Given the description of an element on the screen output the (x, y) to click on. 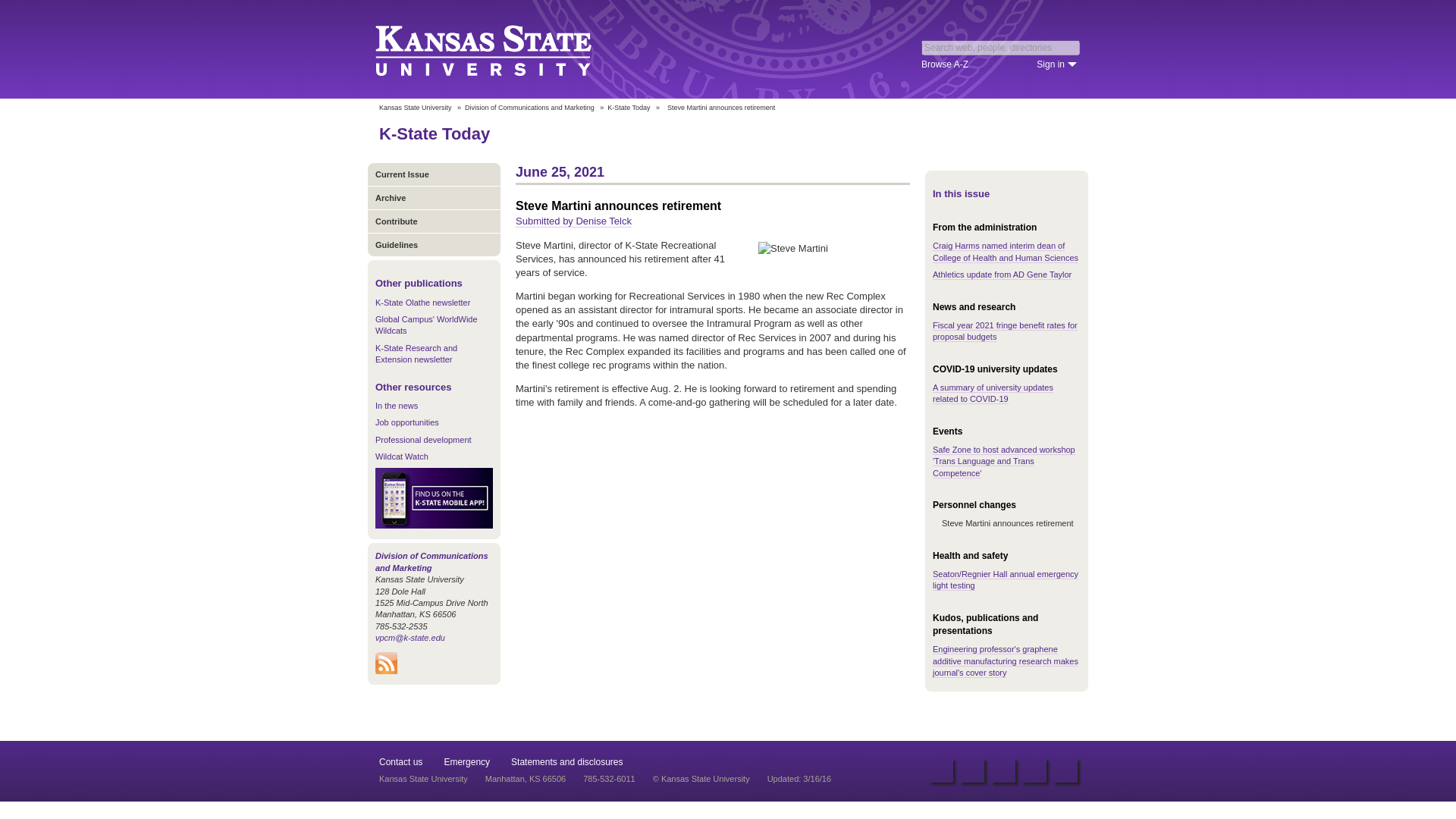
K-State Research and Extension newsletter (416, 353)
Division of Communications and Marketing (529, 107)
Job opportunities (407, 421)
Archive (434, 197)
Global Campus' WorldWide Wildcats (426, 324)
Subscribe to K-State Today RSS feeds (386, 669)
Current Issue (434, 173)
Search web, people, directories (1000, 47)
Kansas State University (414, 107)
A summary of university updates related to COVID-19 (992, 393)
K-State Today (433, 133)
Sign in (1056, 64)
